Given the description of an element on the screen output the (x, y) to click on. 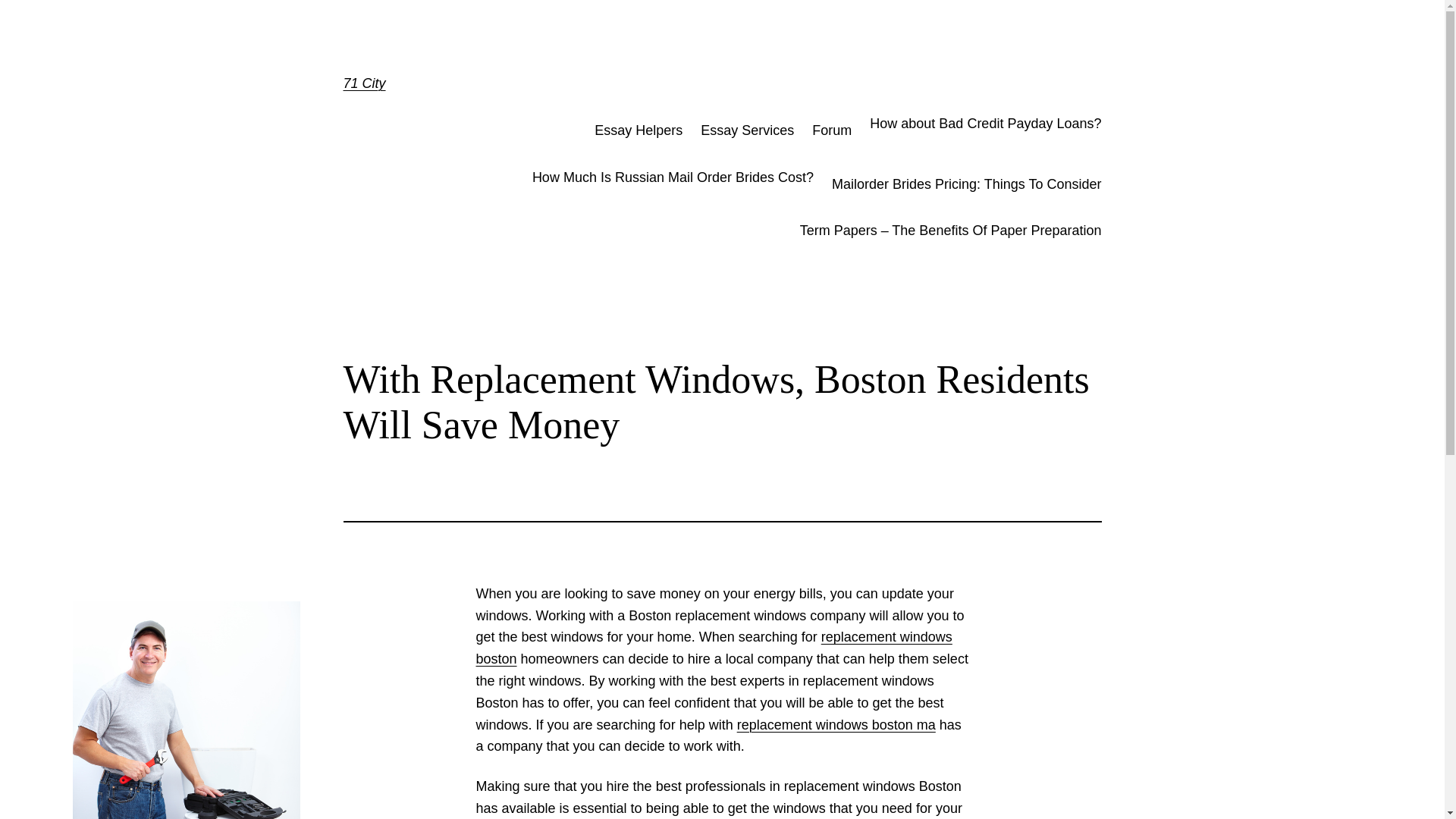
Window replacement boston, Replacement windows ma (836, 724)
replacement windows boston (714, 647)
Essay Services (746, 130)
Vinyl windows boston, Window replacement boston (714, 647)
71 City (363, 83)
Essay Helpers (638, 130)
Mailorder Brides Pricing: Things To Consider (966, 184)
Forum (831, 130)
replacement windows boston ma (836, 724)
How Much Is Russian Mail Order Brides Cost? (672, 184)
How about Bad Credit Payday Loans? (984, 130)
